Given the description of an element on the screen output the (x, y) to click on. 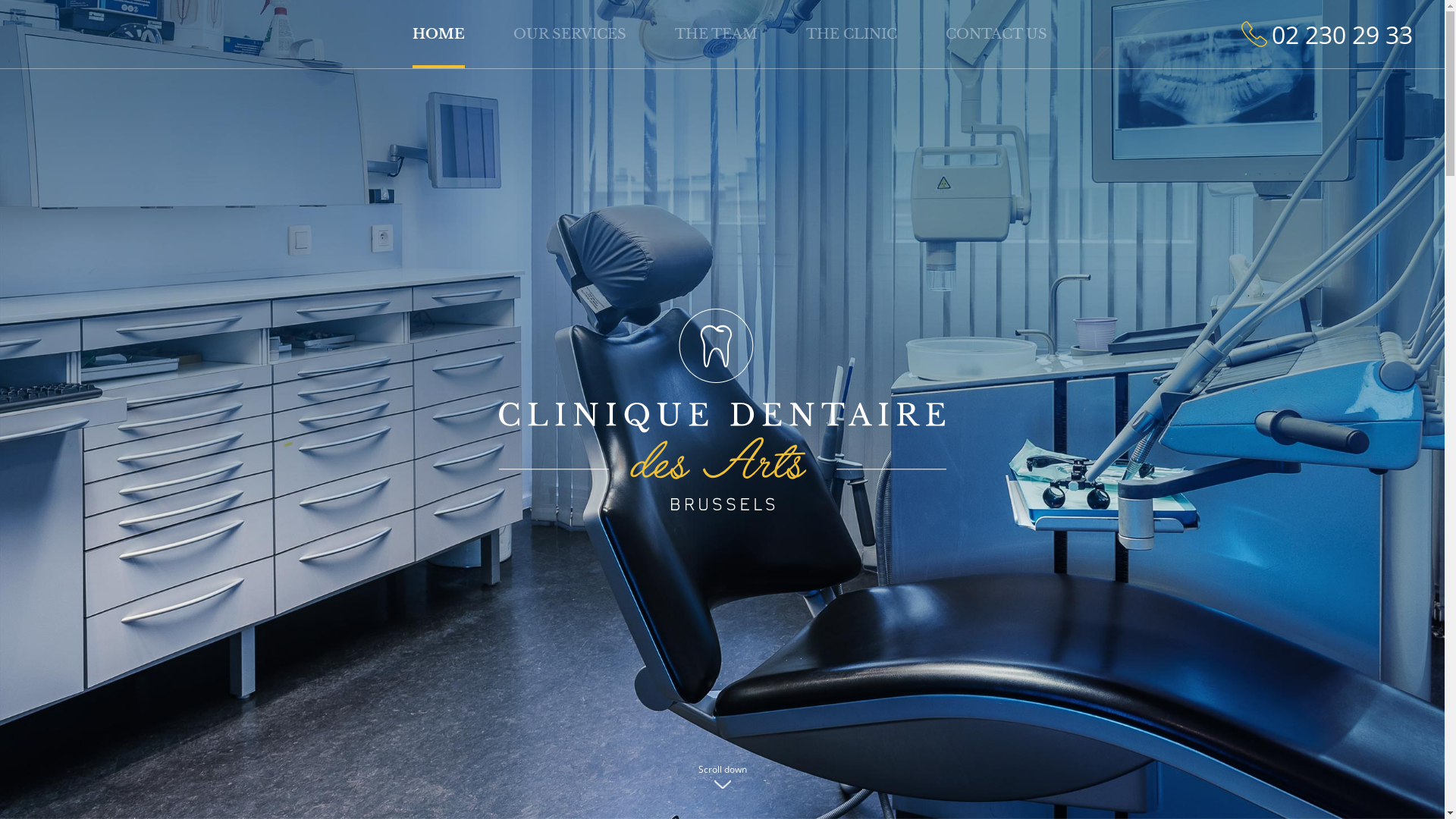
HOME Element type: text (438, 34)
THE CLINIC Element type: text (851, 32)
CONTACT US Element type: text (996, 32)
02 230 29 33 Element type: text (1326, 34)
OUR SERVICES Element type: text (569, 32)
THE TEAM Element type: text (715, 32)
